Given the description of an element on the screen output the (x, y) to click on. 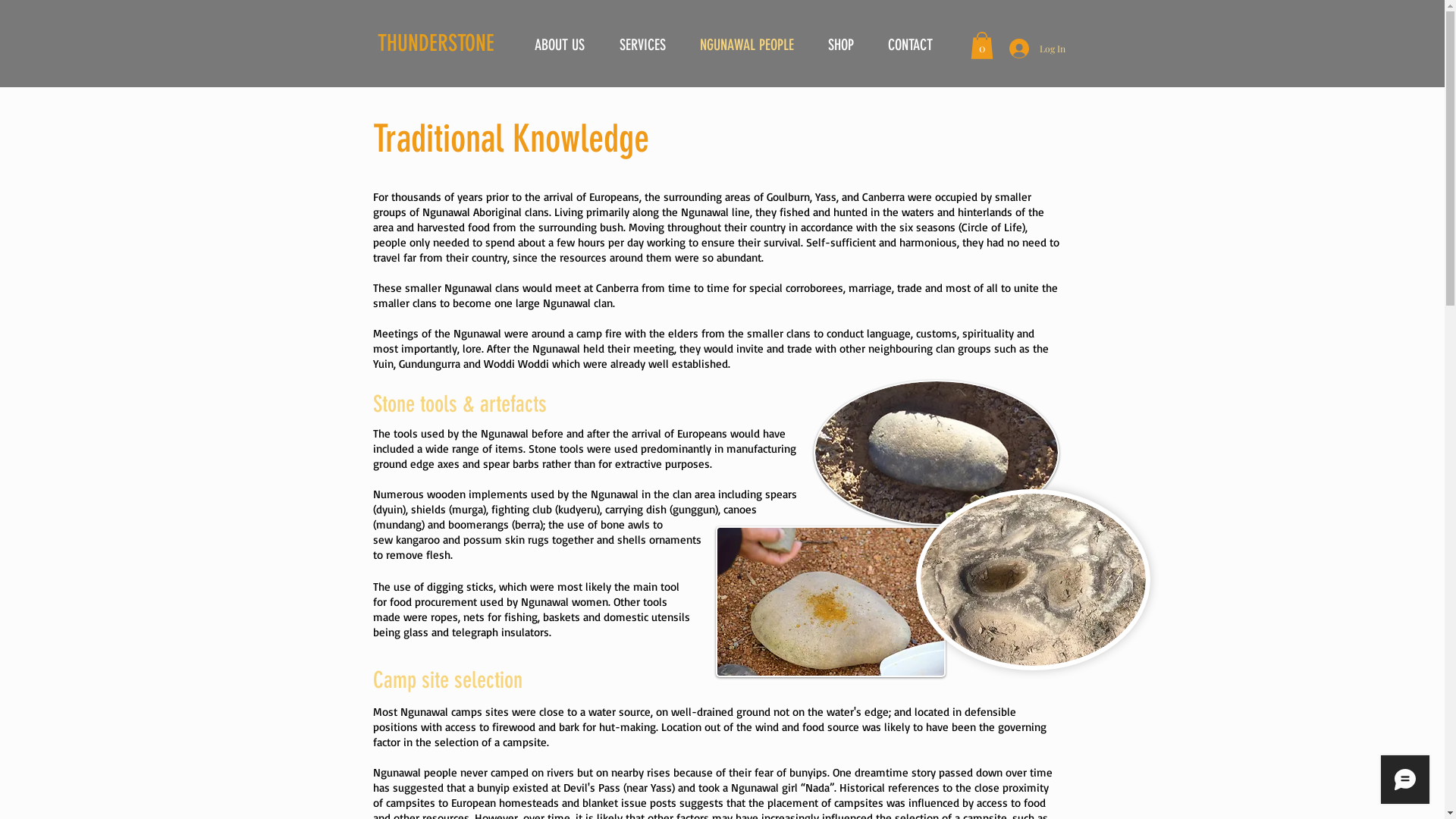
NGUNAWAL PEOPLE Element type: text (746, 45)
0 Element type: text (981, 45)
Log In Element type: text (1028, 48)
SHOP Element type: text (841, 45)
CONTACT Element type: text (909, 45)
THUNDERSTONE Element type: text (435, 42)
ABOUT US Element type: text (559, 45)
SERVICES Element type: text (642, 45)
